Given the description of an element on the screen output the (x, y) to click on. 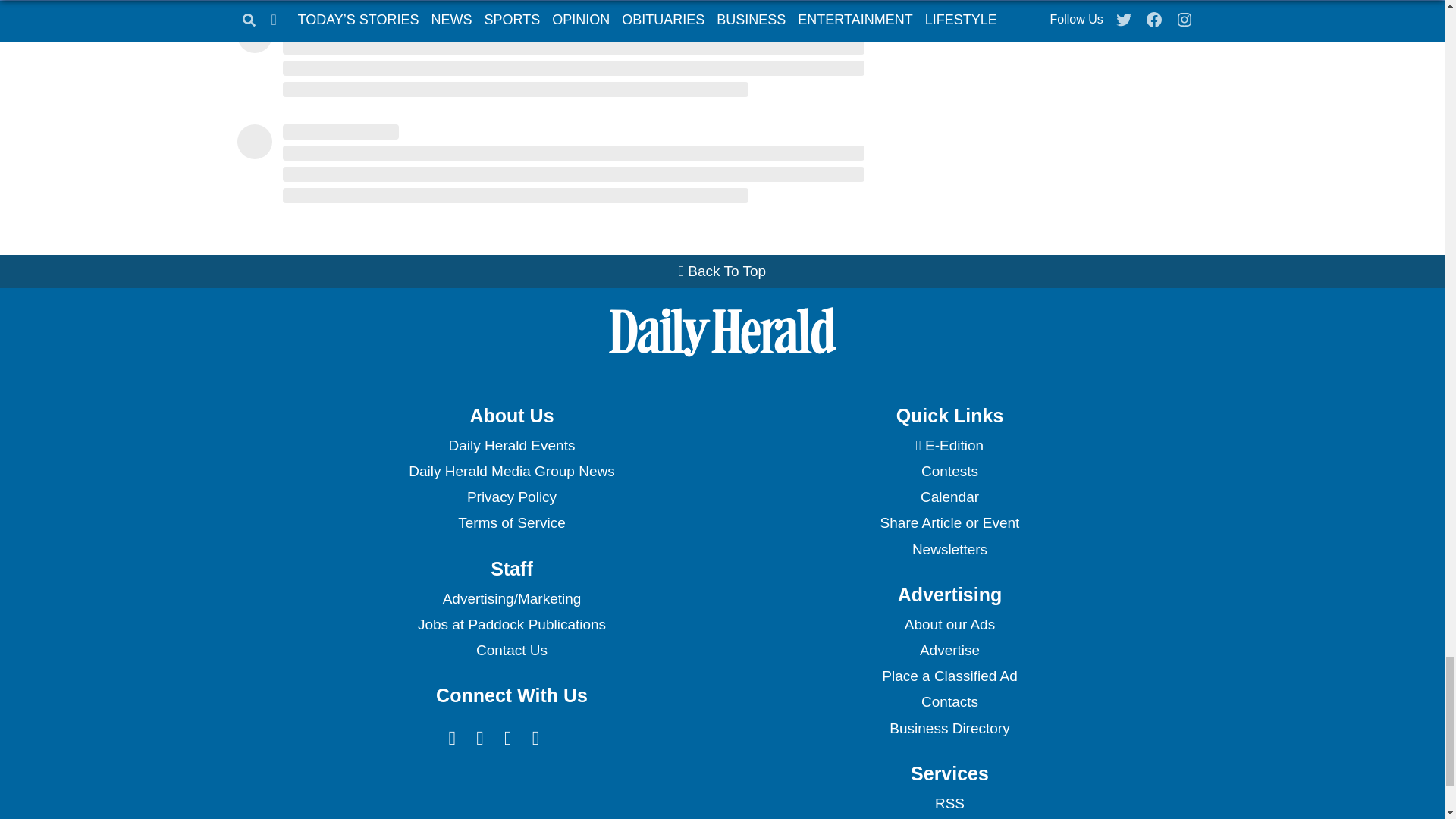
Contact Us (511, 650)
Daily Herald Events (511, 445)
Privacy Policy (511, 497)
Daily Herald Media Group News (511, 471)
Terms of Service (511, 523)
Daily Herald Digital Newspaper (949, 445)
Jobs at Paddock Publications (511, 624)
